Given the description of an element on the screen output the (x, y) to click on. 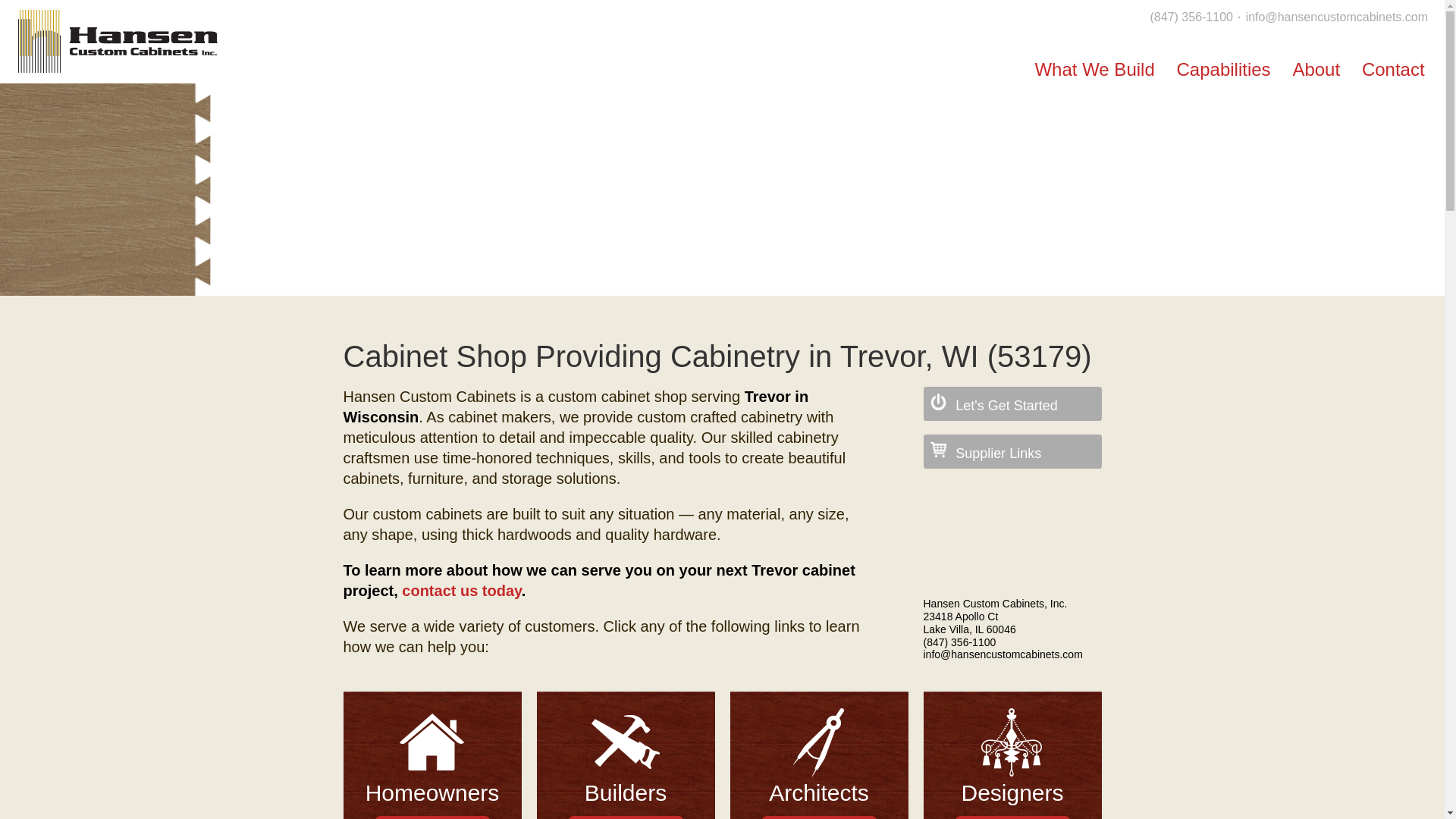
What We Build (1094, 66)
